Given the description of an element on the screen output the (x, y) to click on. 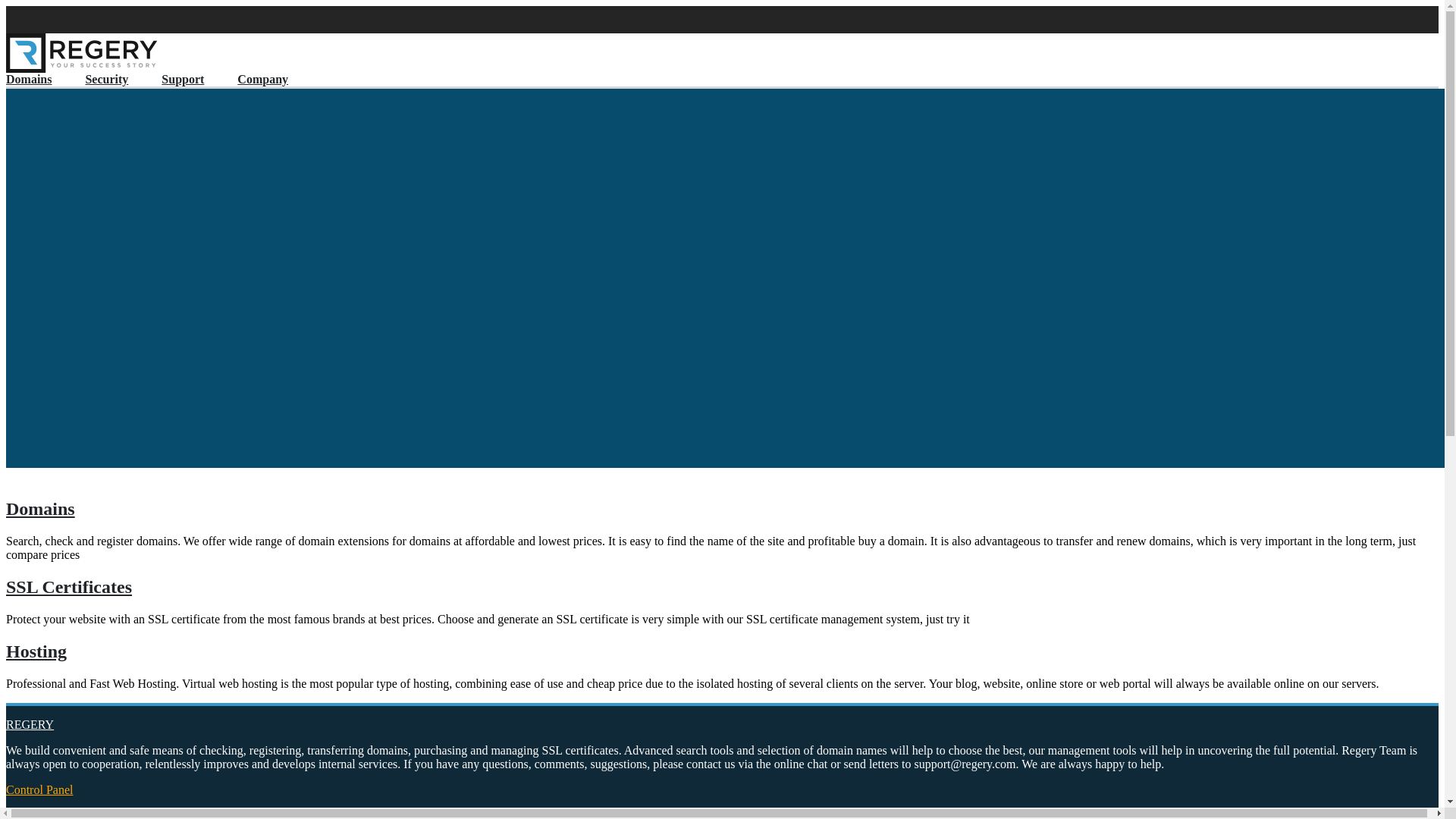
SSL Certificates Element type: text (722, 587)
Company Element type: text (277, 78)
Domains Element type: text (43, 78)
Hosting Element type: text (722, 651)
Control Panel Element type: text (39, 789)
SEARCH Element type: text (46, 294)
Support Element type: text (197, 78)
Domains Element type: text (722, 508)
REGERY Element type: text (29, 724)
Security Element type: text (121, 78)
